Given the description of an element on the screen output the (x, y) to click on. 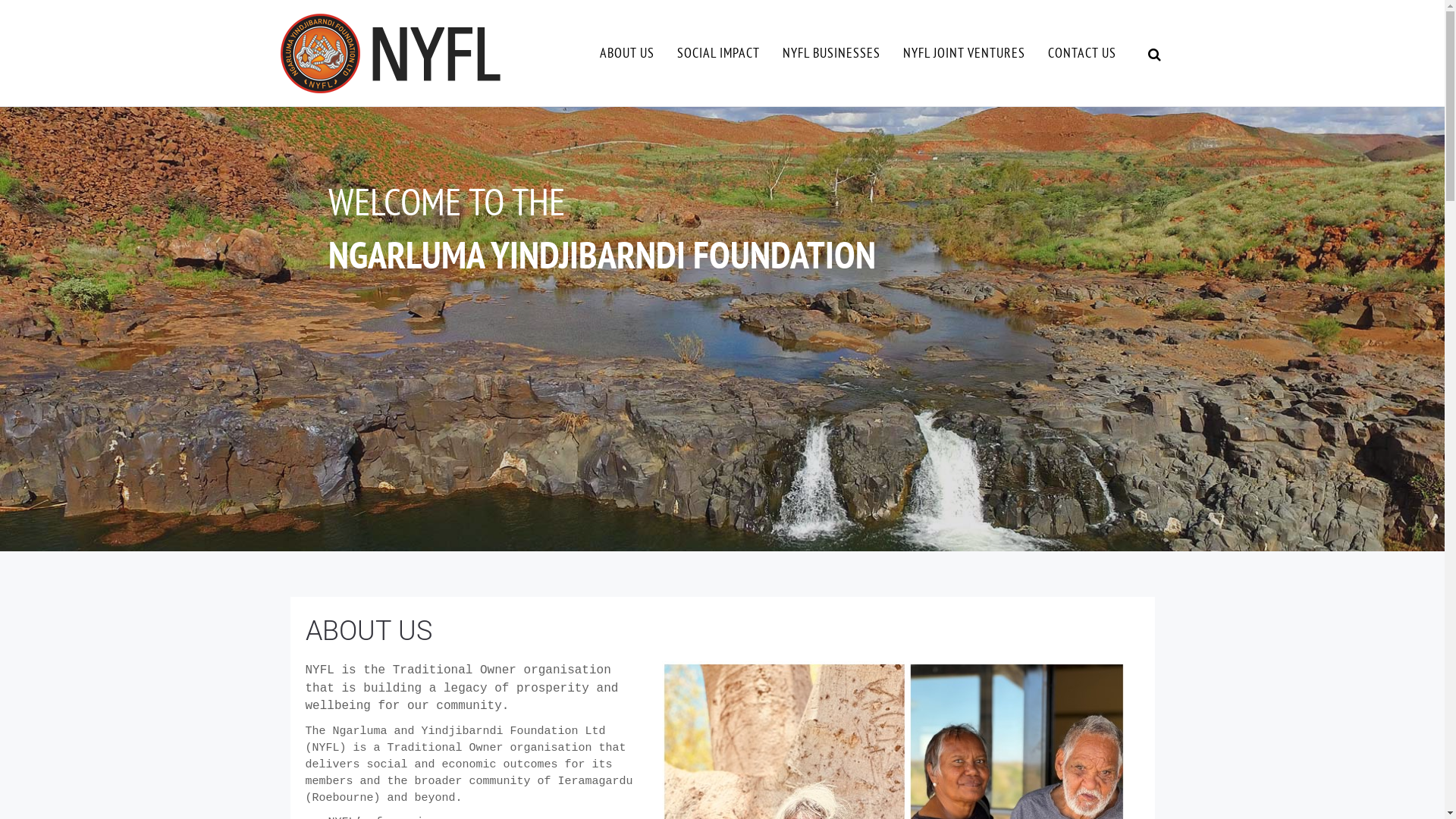
NYFL BUSINESSES Element type: text (830, 53)
NYFL JOINT VENTURES Element type: text (963, 53)
SOCIAL IMPACT Element type: text (718, 53)
CONTACT US Element type: text (1080, 53)
ABOUT US Element type: text (626, 53)
